Given the description of an element on the screen output the (x, y) to click on. 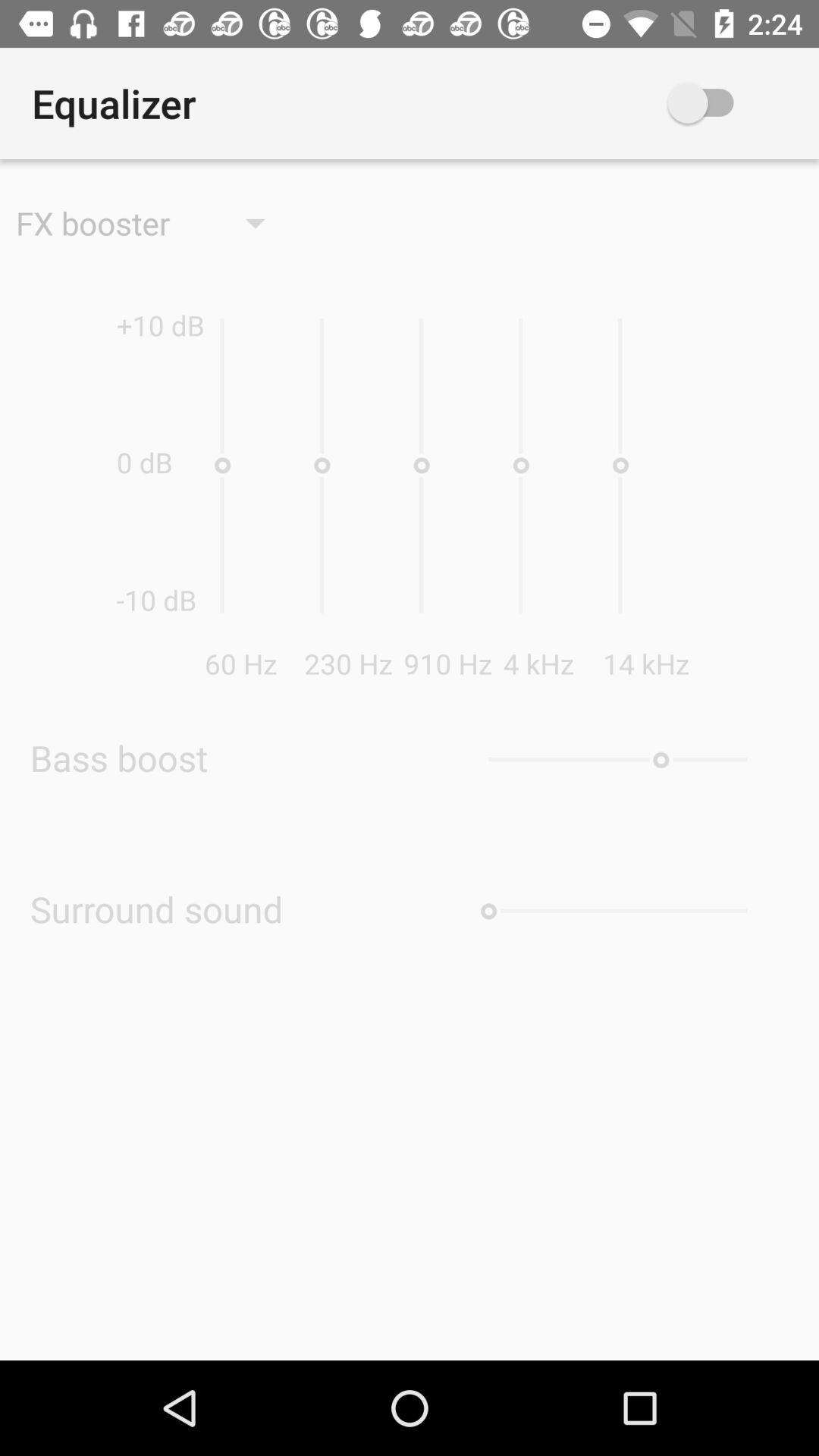
choose the icon next to the equalizer (723, 103)
